Given the description of an element on the screen output the (x, y) to click on. 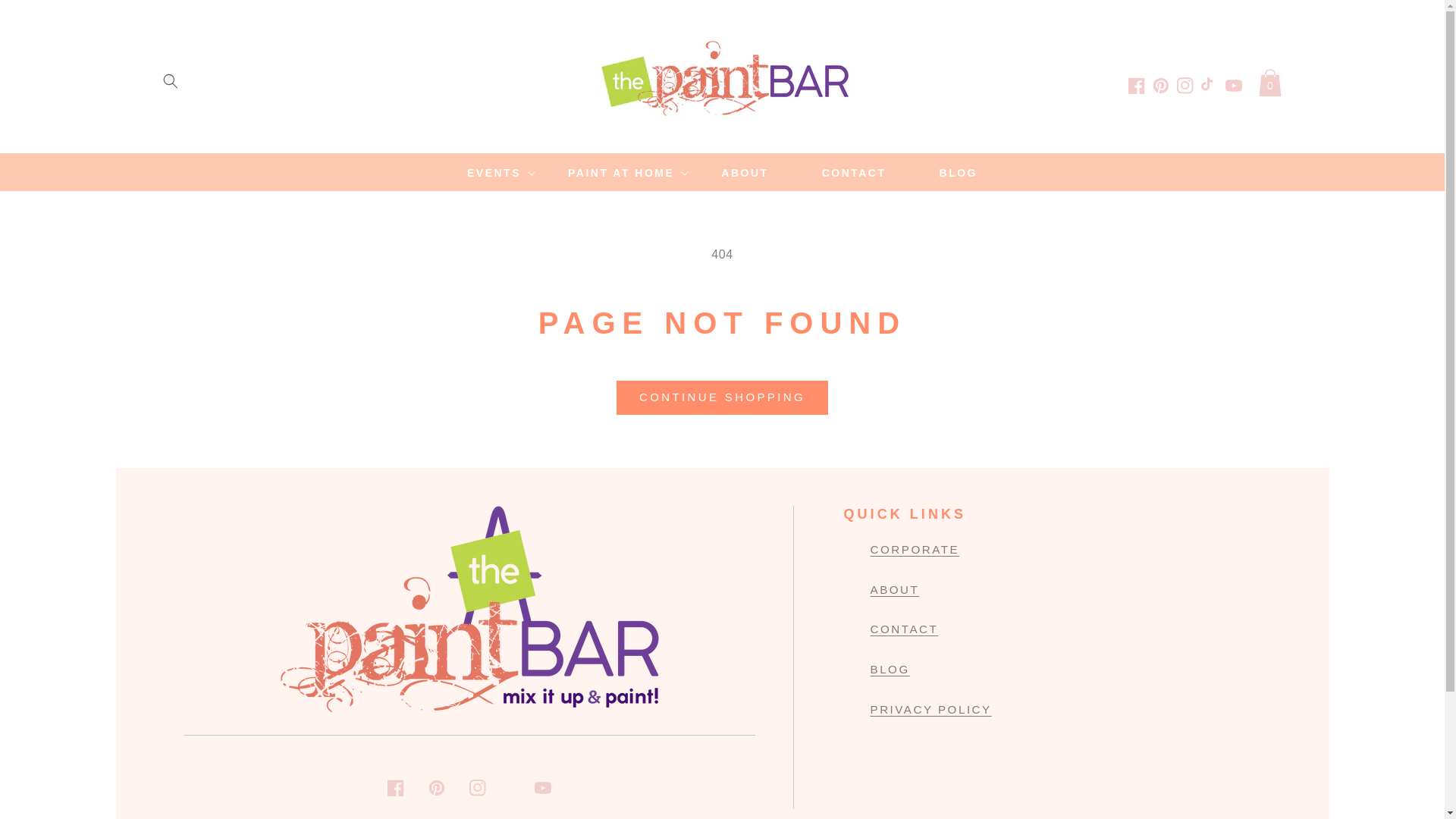
BLOG (958, 172)
SKIP TO CONTENT (45, 16)
Facebook (1136, 85)
ABOUT (744, 172)
TikTok (1209, 85)
Pinterest (1161, 85)
YouTube (1233, 85)
CONTACT (853, 172)
Instagram (1184, 85)
0 (1268, 80)
